Given the description of an element on the screen output the (x, y) to click on. 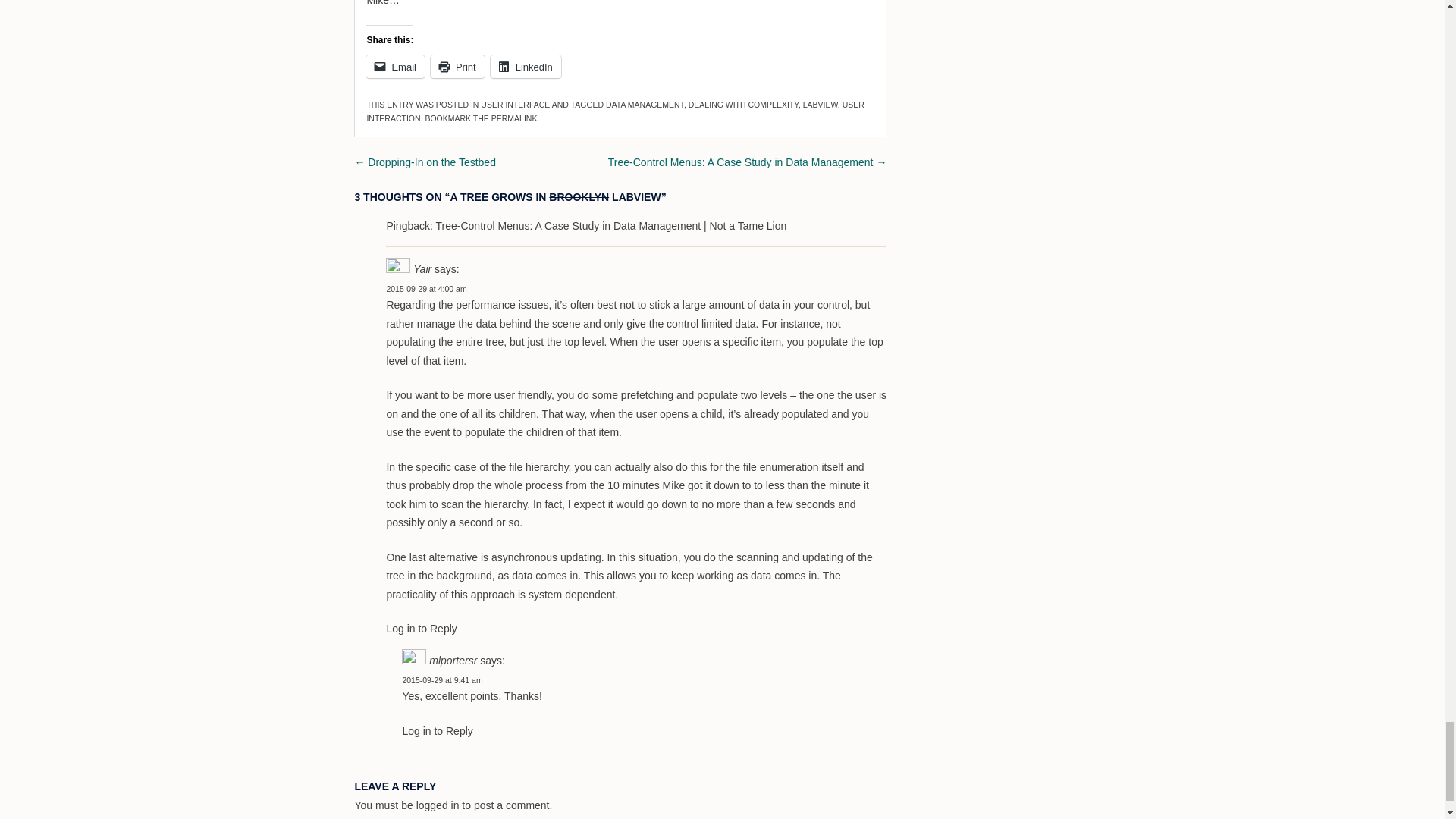
PERMALINK (514, 117)
Click to email a link to a friend (395, 66)
LinkedIn (525, 66)
Log in to Reply (436, 730)
Click to share on LinkedIn (525, 66)
DEALING WITH COMPLEXITY (742, 103)
Email (395, 66)
2015-09-29 at 4:00 am (425, 288)
DATA MANAGEMENT (644, 103)
Print (457, 66)
USER INTERFACE (515, 103)
logged in (438, 805)
Click to print (457, 66)
Log in to Reply (421, 628)
2015-09-29 at 9:41 am (441, 679)
